Given the description of an element on the screen output the (x, y) to click on. 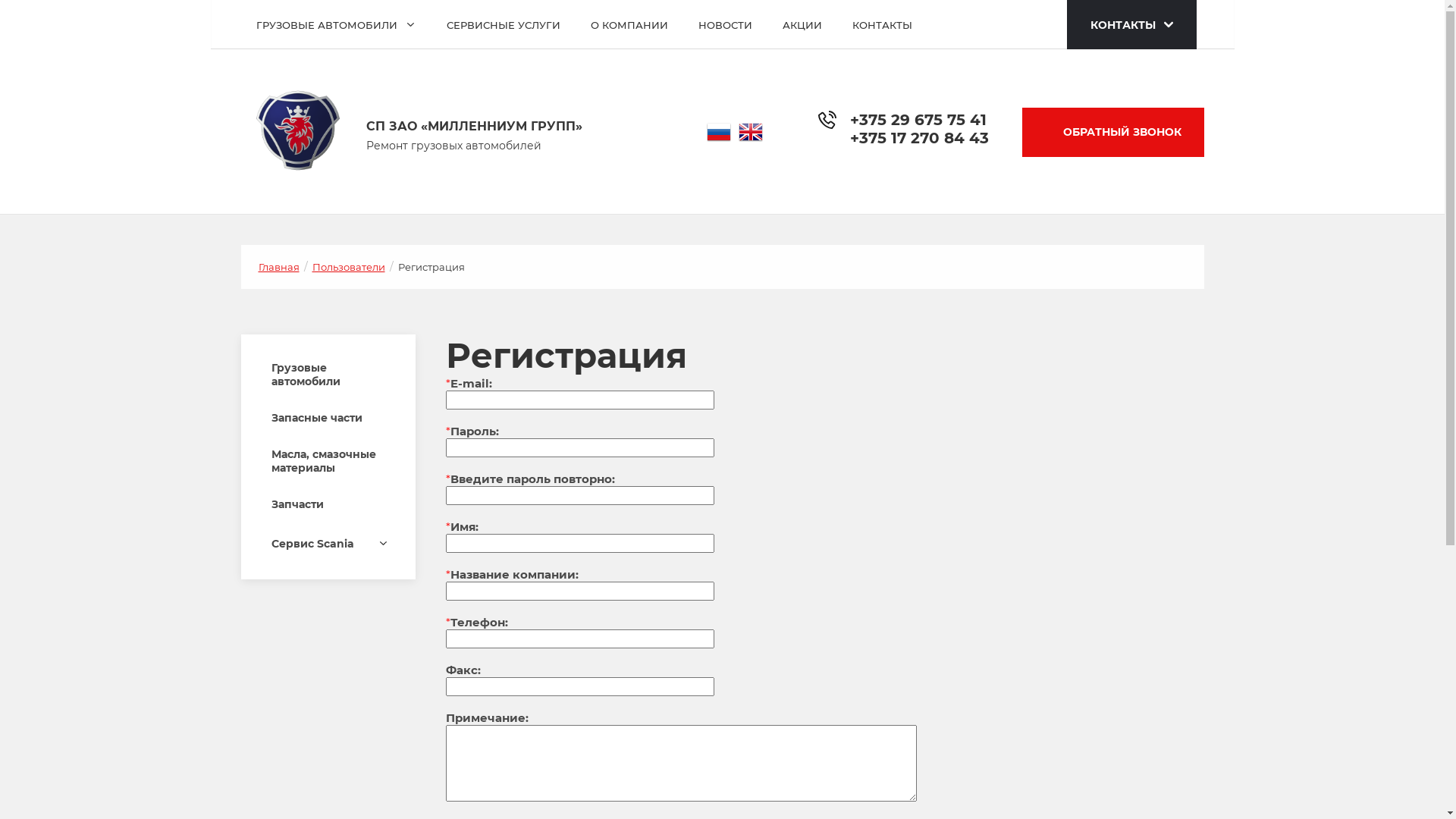
+375 29 675 75 41
+375 17 270 84 43 Element type: text (918, 127)
